Given the description of an element on the screen output the (x, y) to click on. 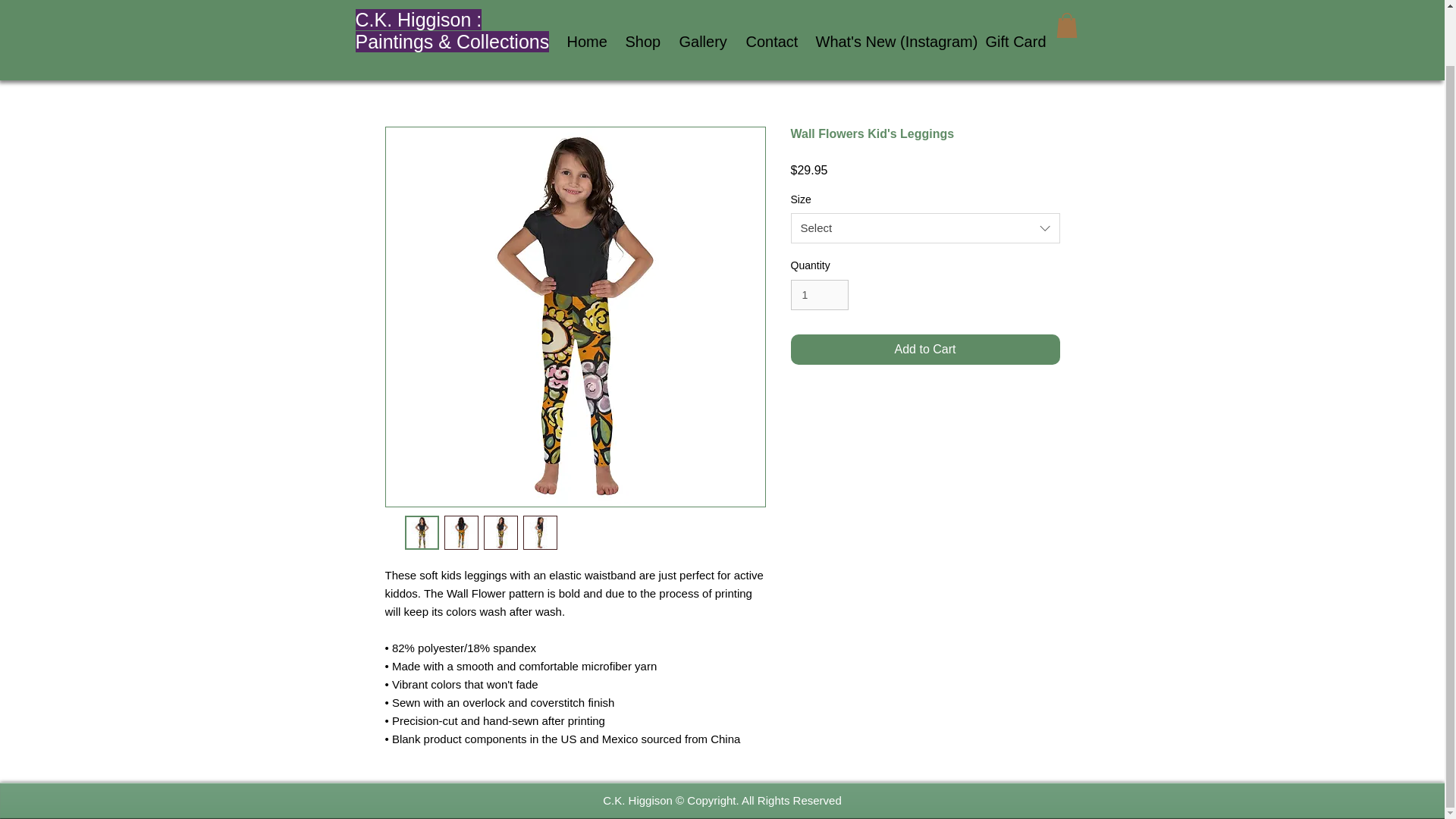
Select (924, 227)
Add to Cart (924, 349)
1 (818, 295)
